Given the description of an element on the screen output the (x, y) to click on. 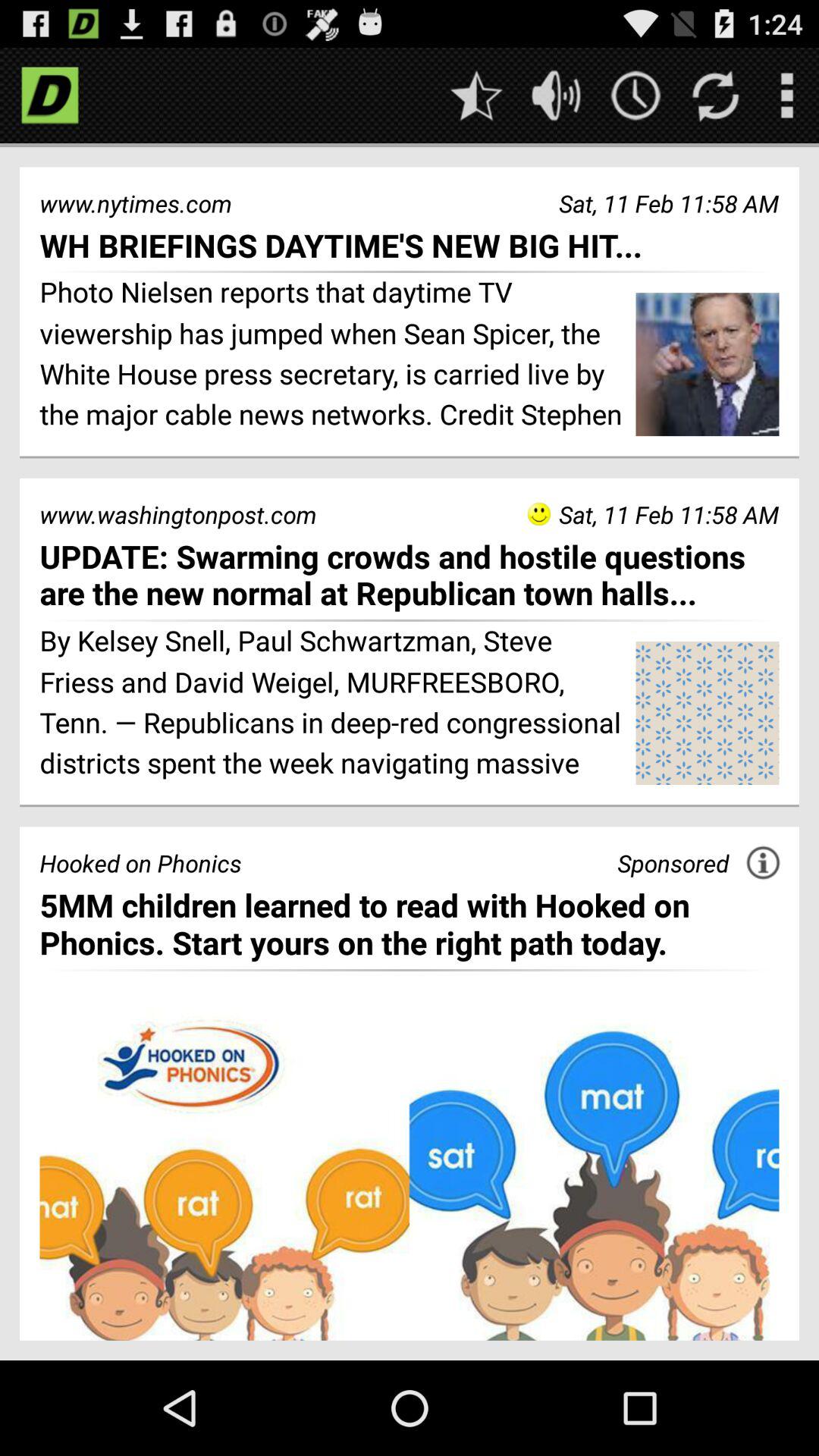
scroll until 5mm children learned app (409, 924)
